Given the description of an element on the screen output the (x, y) to click on. 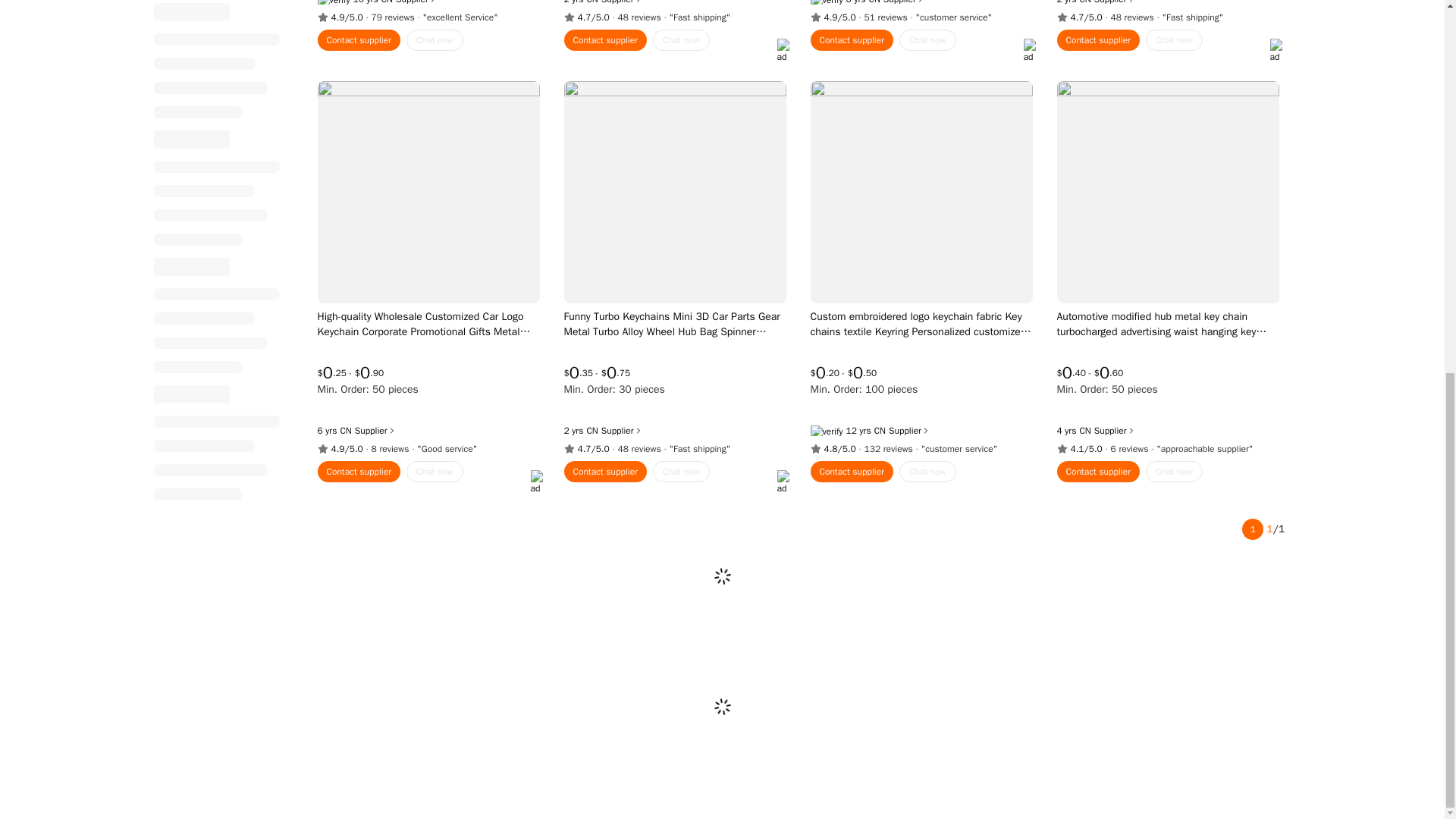
Contact supplier (605, 39)
Chat now (927, 39)
Zhongshan Xiaolan Langbao Hardware Craft Product Factory (344, 430)
Supplier (903, 2)
Zhongshan Magic Gift Co., Ltd. (874, 2)
Chengdu Lefeng Technology Co., Ltd. (591, 2)
Contact supplier (358, 39)
Chat now (681, 39)
Supplier (622, 2)
Supplier (417, 2)
Chat now (434, 39)
Chengdu Lefeng Technology Co., Ltd. (1084, 2)
Contact supplier (851, 39)
Chengdu Lefeng Technology Co., Ltd. (591, 430)
Yiwu Jiunuo Crafts Co., Ltd. (1084, 430)
